Given the description of an element on the screen output the (x, y) to click on. 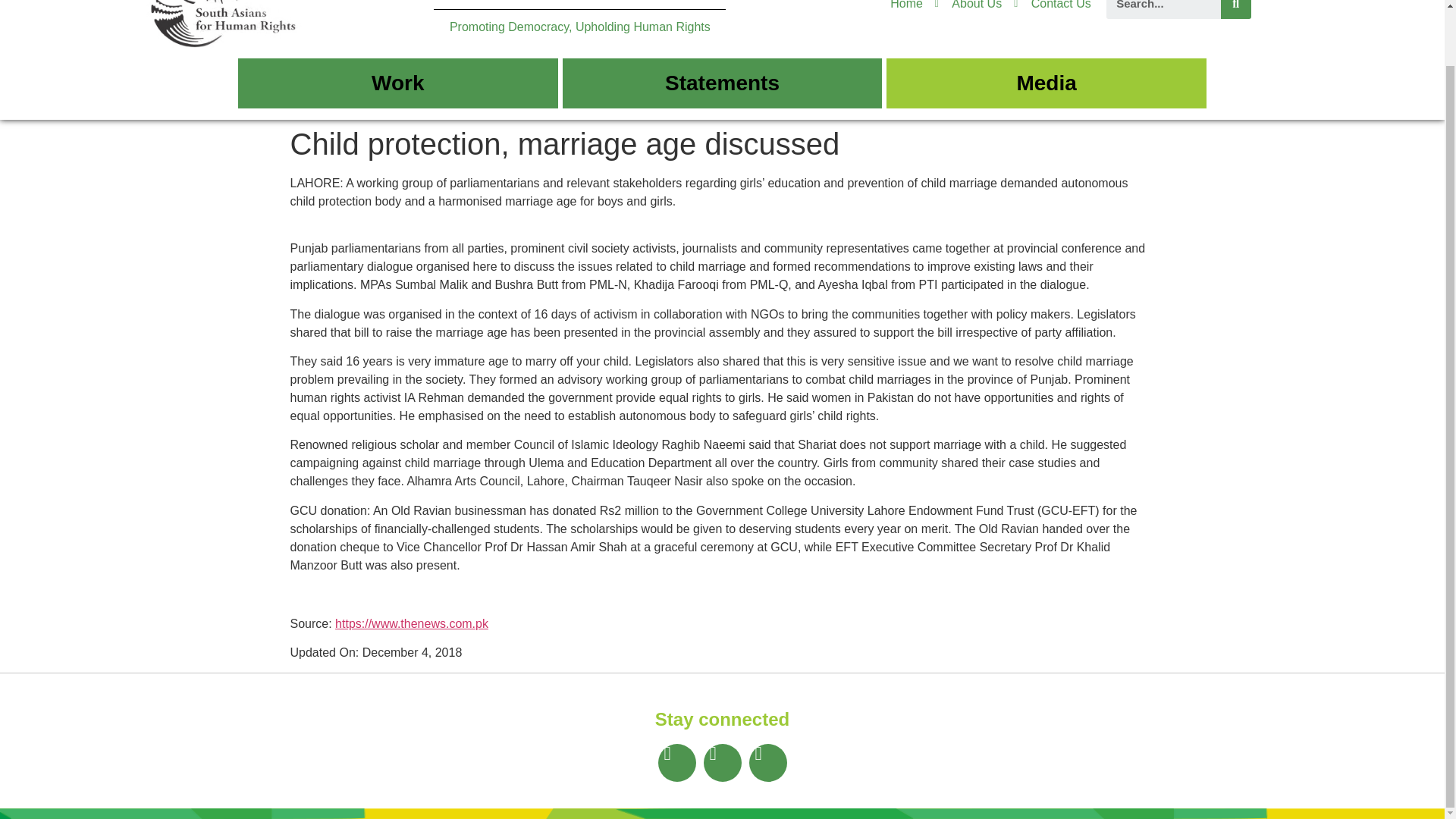
Search (1163, 9)
Home (906, 6)
About Us (967, 6)
Statements (722, 83)
Contact Us (1051, 6)
Search (1235, 9)
Work (398, 83)
